Given the description of an element on the screen output the (x, y) to click on. 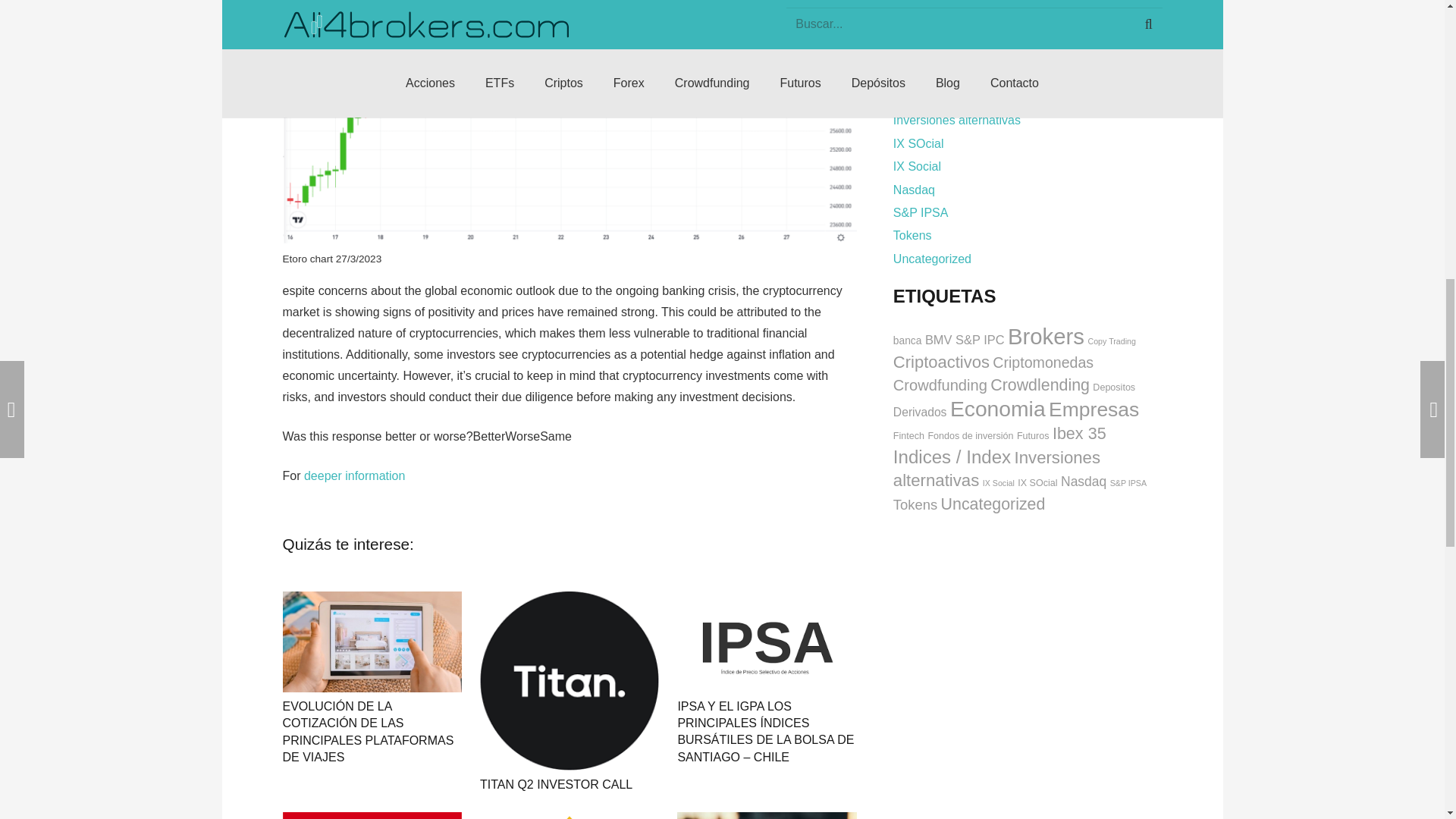
deeper information (354, 475)
TITAN Q2 INVESTOR CALL (555, 784)
